Given the description of an element on the screen output the (x, y) to click on. 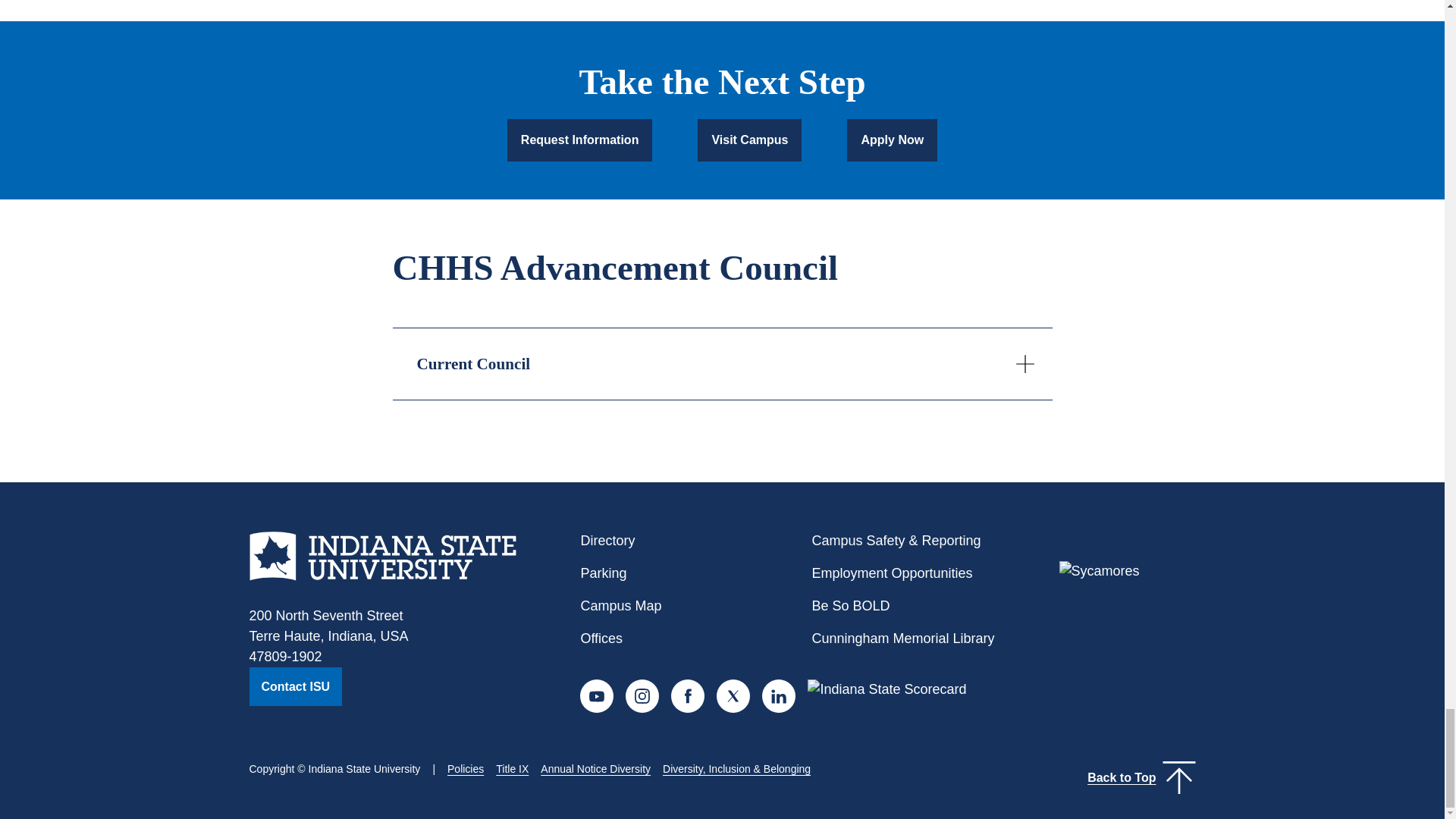
Back to Top (1121, 778)
Back to Top (1141, 777)
